Given the description of an element on the screen output the (x, y) to click on. 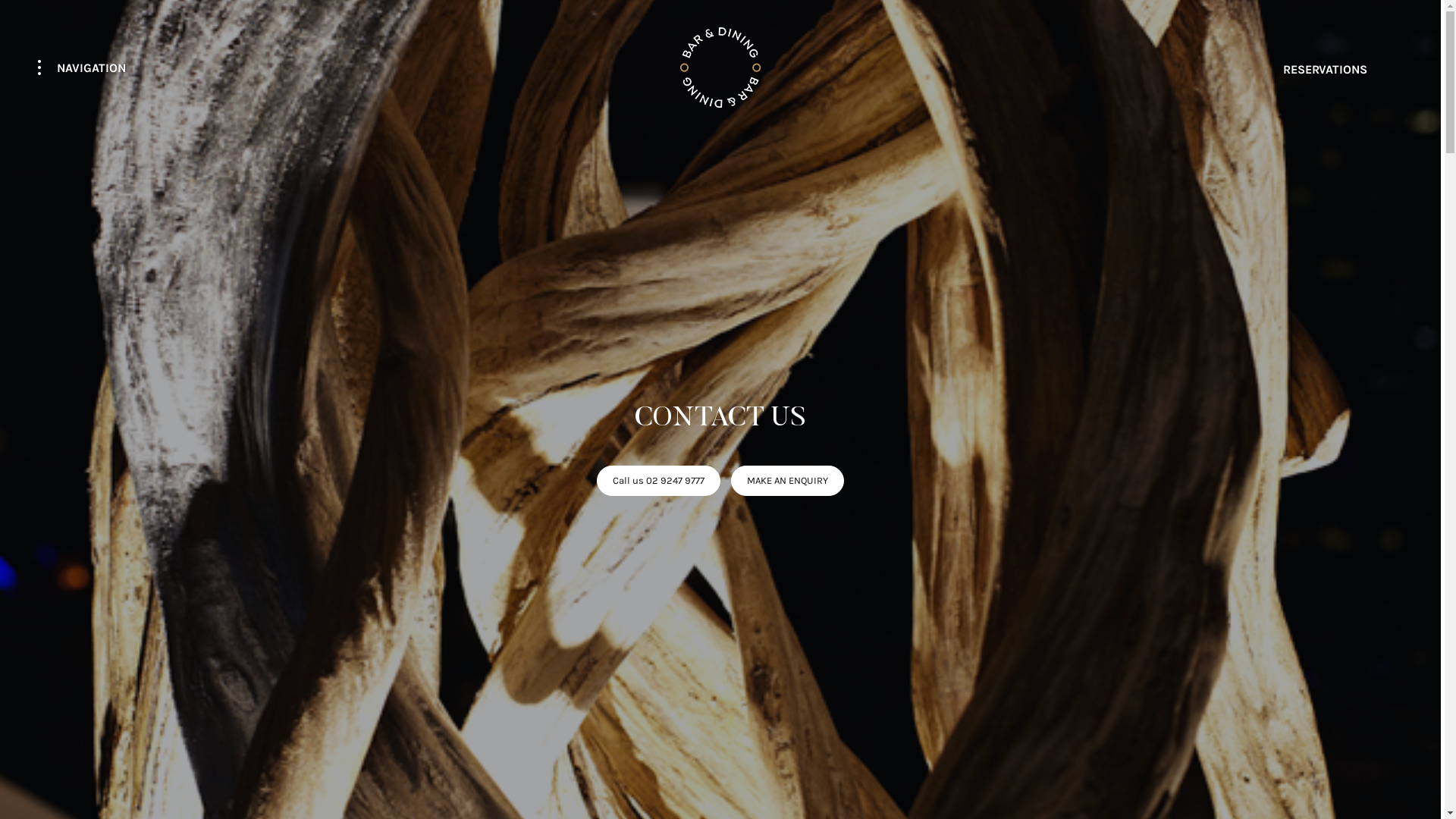
Call us 02 9247 9777 Element type: text (658, 480)
NAVIGATION Element type: text (83, 66)
MAKE AN ENQUIRY Element type: text (787, 480)
RESERVATIONS Element type: text (1342, 66)
O Bar and Dining Element type: hover (720, 67)
